Given the description of an element on the screen output the (x, y) to click on. 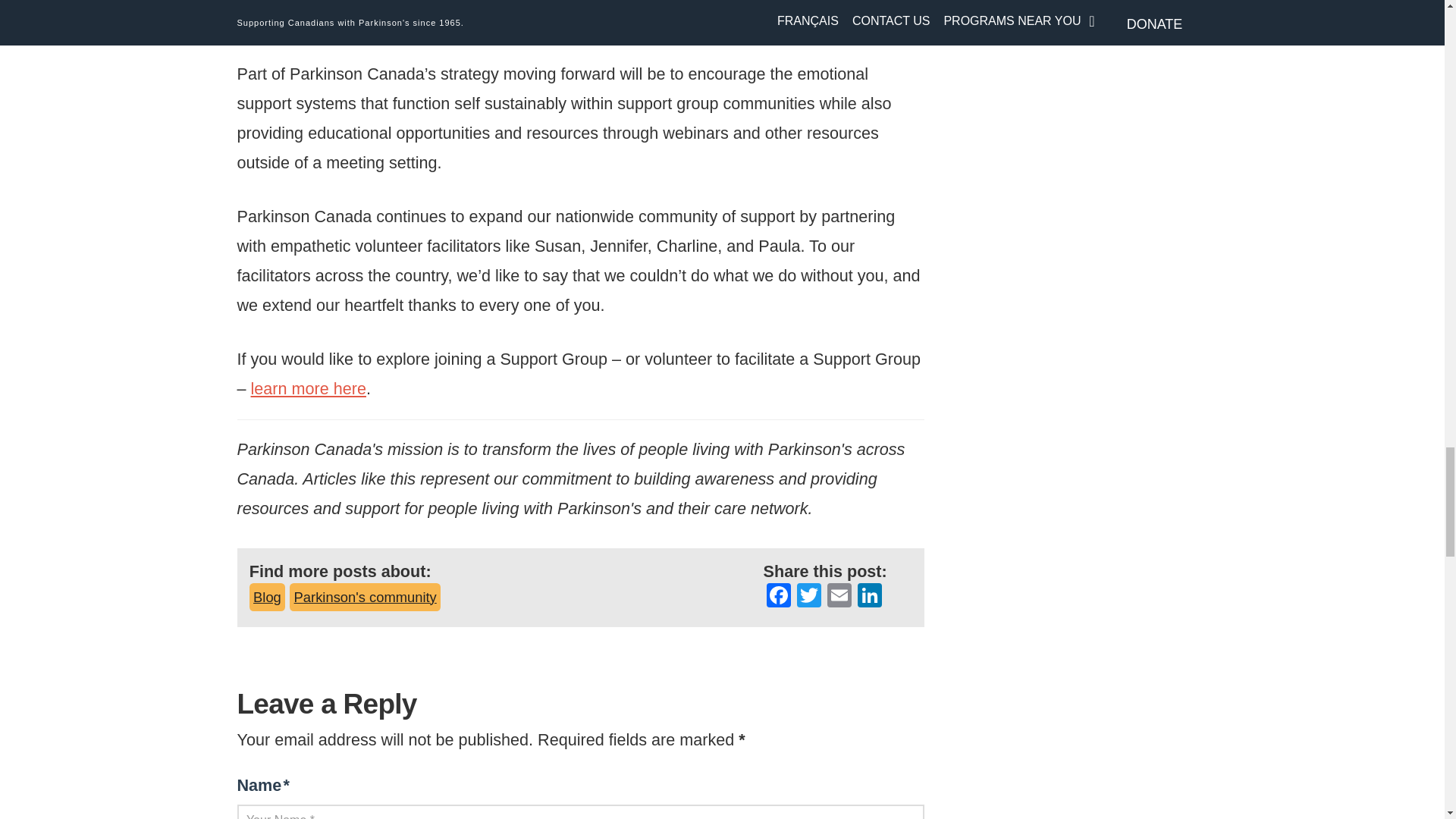
LinkedIn (869, 596)
Email (839, 596)
Facebook (777, 596)
Twitter (808, 596)
